Given the description of an element on the screen output the (x, y) to click on. 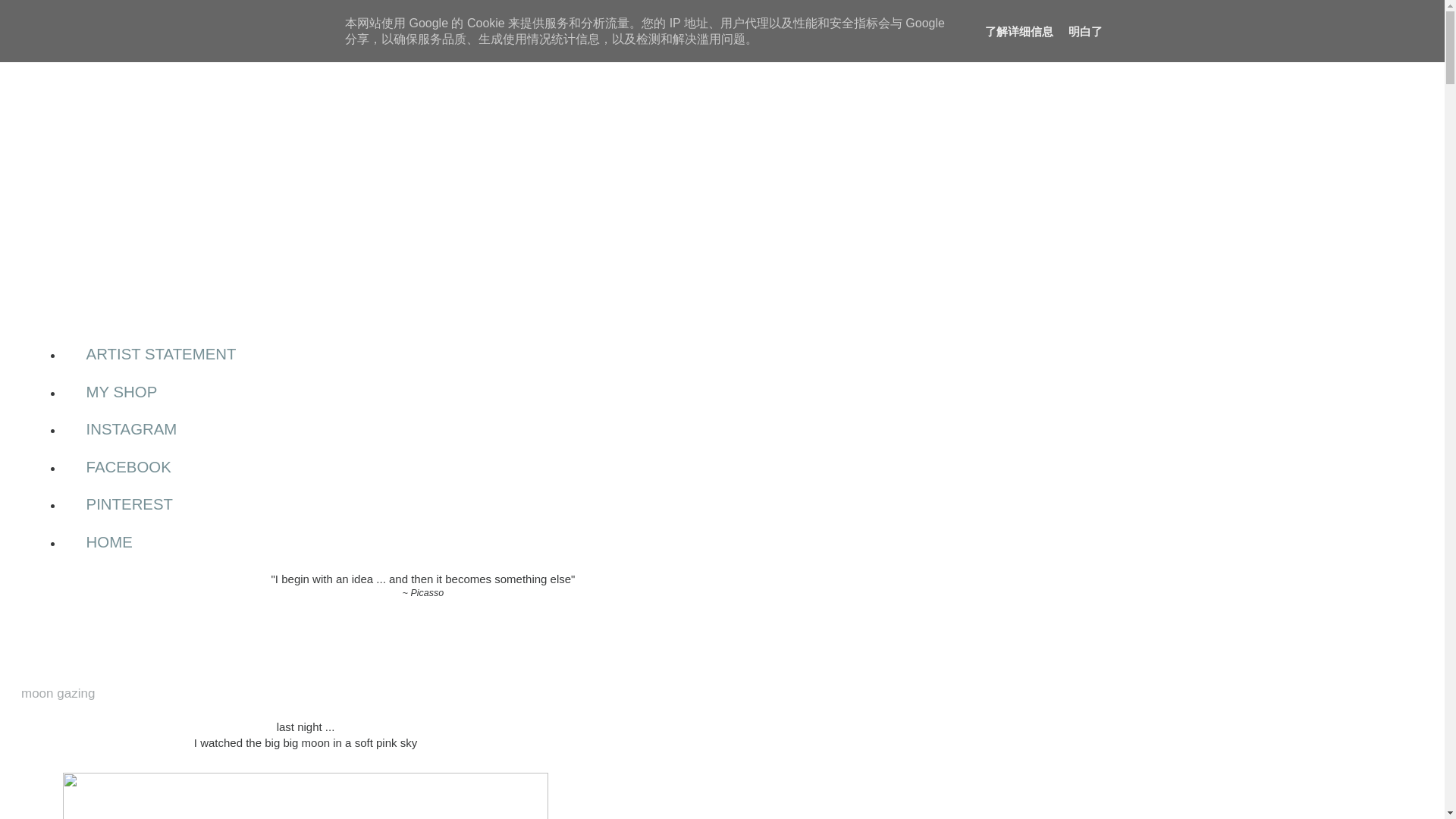
MY SHOP (121, 392)
HOME (108, 542)
INSTAGRAM (131, 429)
ARTIST STATEMENT (160, 354)
FACEBOOK (127, 467)
PINTEREST (129, 505)
